Given the description of an element on the screen output the (x, y) to click on. 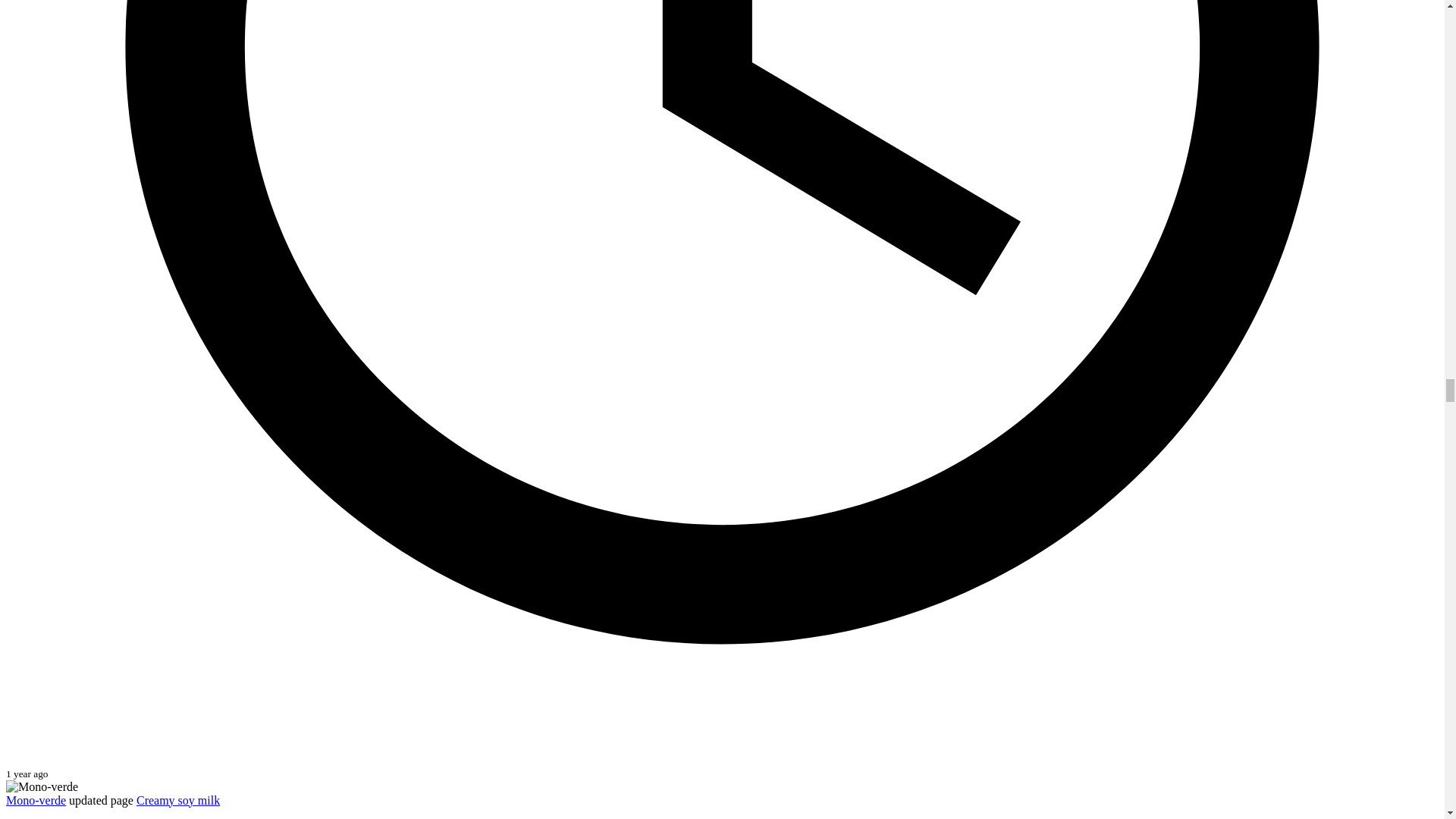
Mono-verde (35, 799)
Creamy soy milk (177, 799)
